Given the description of an element on the screen output the (x, y) to click on. 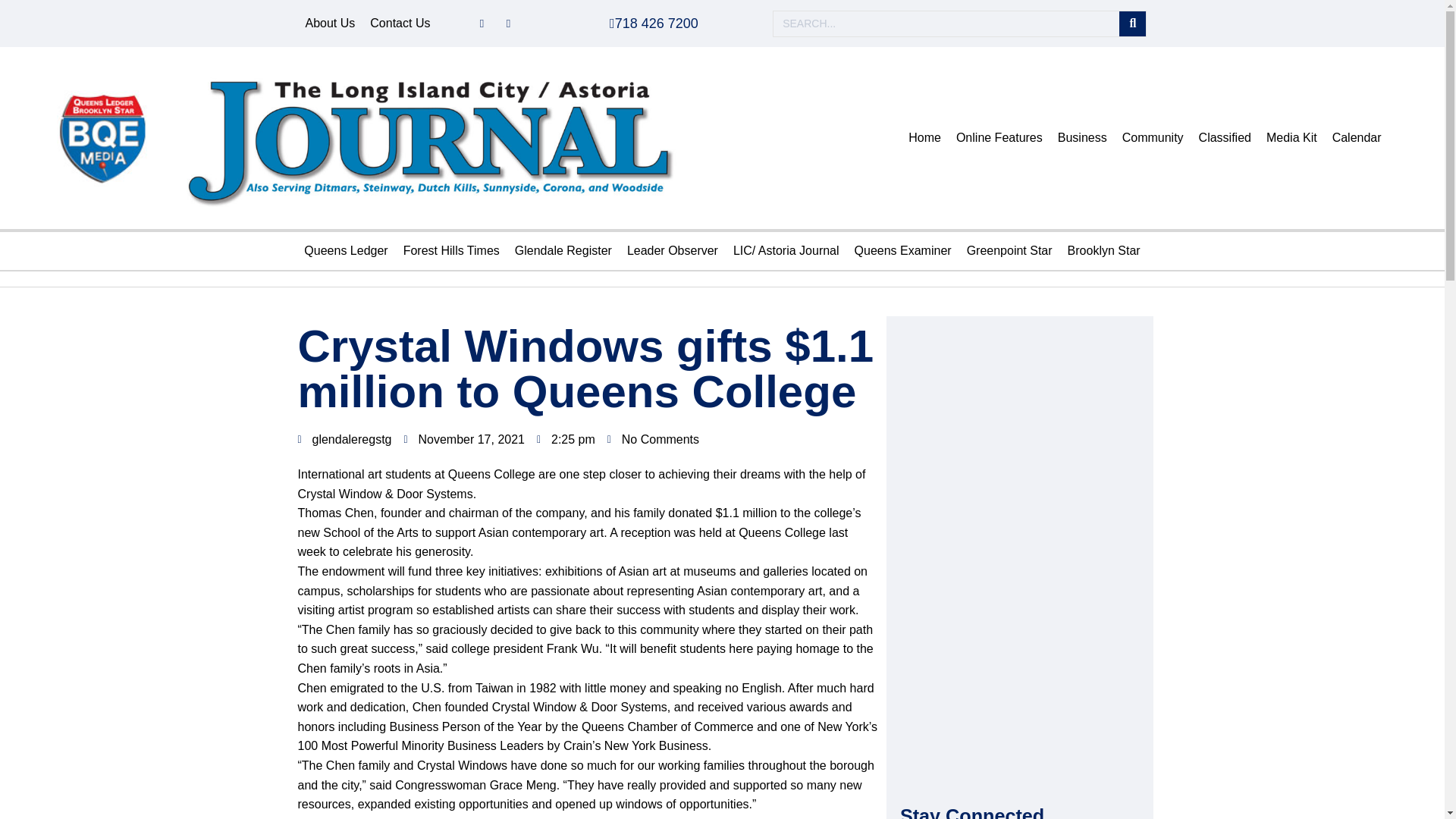
Home (925, 137)
718 426 7200 (653, 23)
Contact Us (400, 23)
Classified (1225, 137)
About Us (329, 23)
Community (1153, 137)
Business (1082, 137)
Online Features (999, 137)
